Given the description of an element on the screen output the (x, y) to click on. 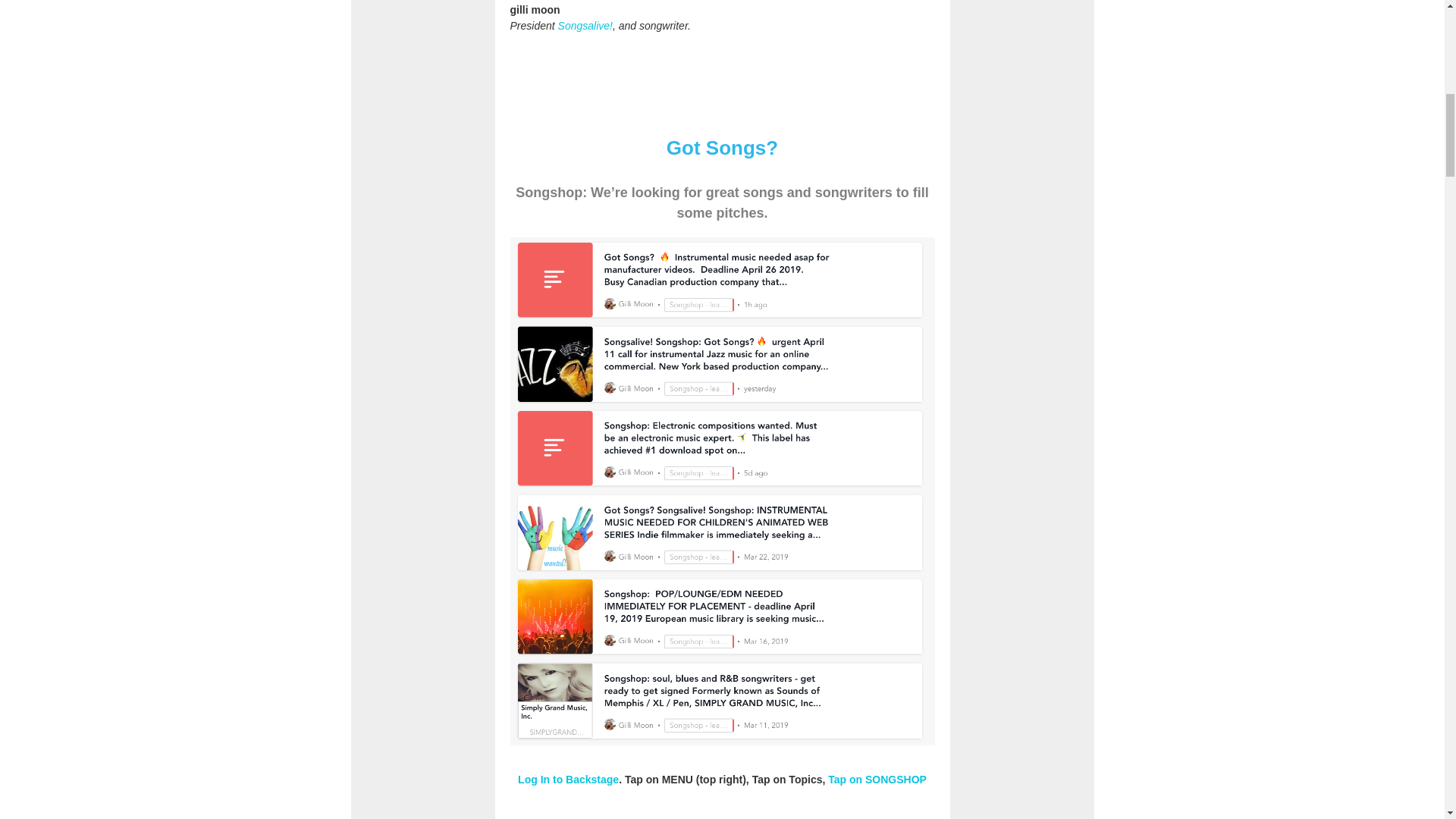
Log In to Backstage (568, 779)
Tap on SONGSHOP (877, 779)
Songsalive! (584, 25)
